Given the description of an element on the screen output the (x, y) to click on. 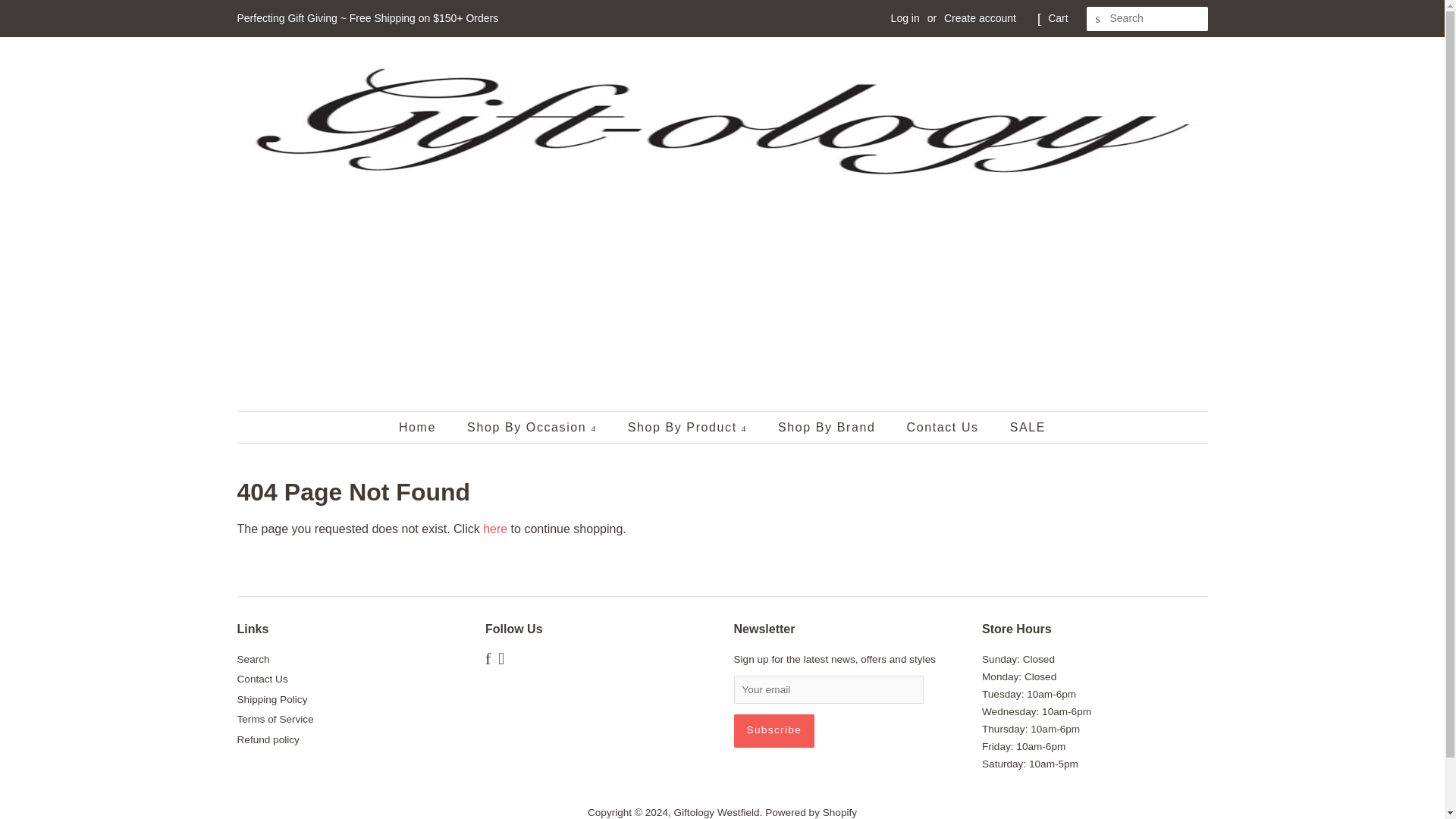
Log in (905, 18)
Shop By Occasion (533, 427)
Home (424, 427)
Subscribe (774, 730)
Shop By Product (688, 427)
Cart (1057, 18)
Create account (979, 18)
Search (1097, 18)
